Given the description of an element on the screen output the (x, y) to click on. 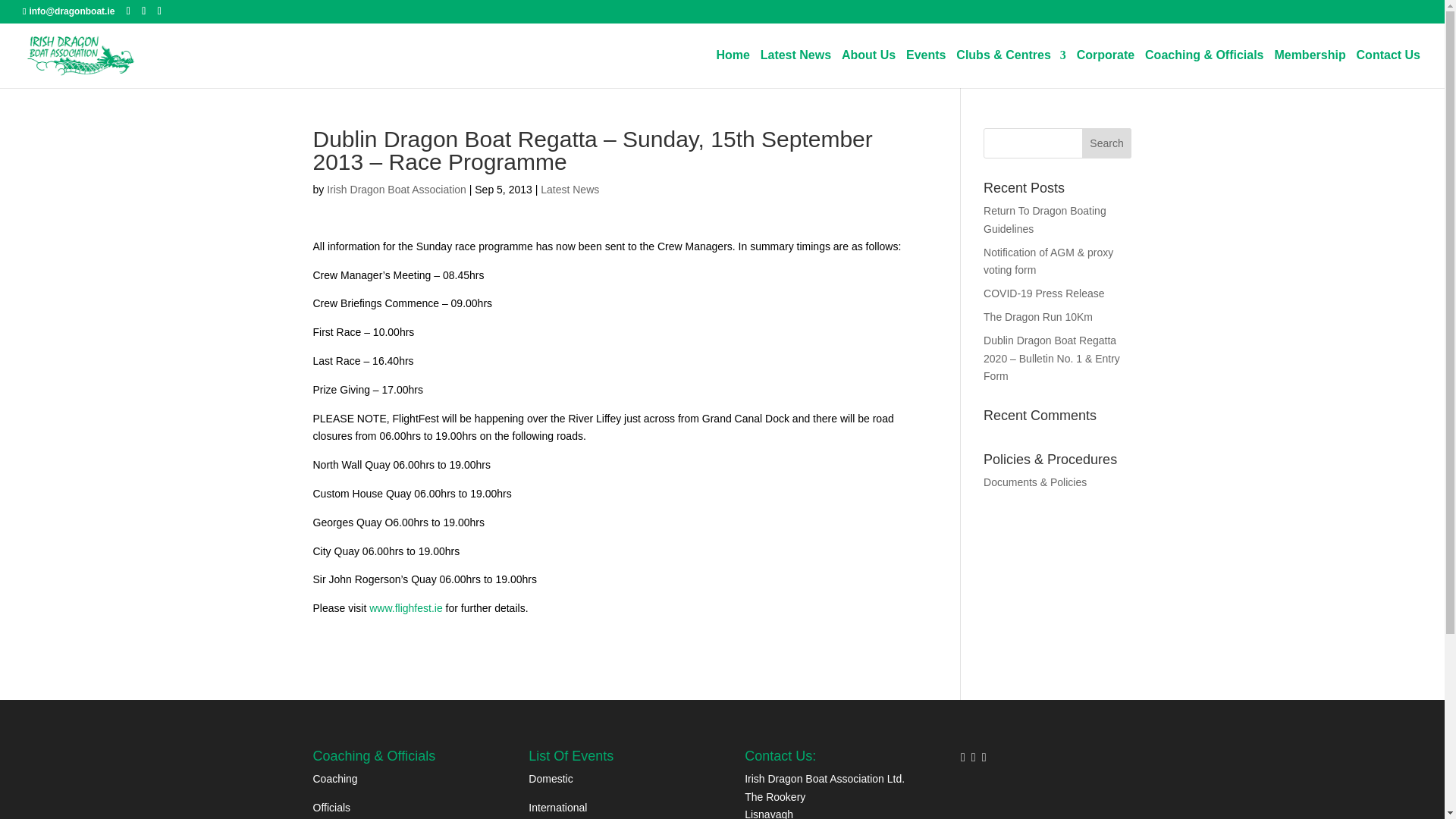
The Dragon Run 10Km (1038, 316)
International (557, 807)
Coaching (334, 778)
Domestic (550, 778)
Events (924, 68)
Corporate (1105, 68)
Return To Dragon Boating Guidelines (1045, 219)
Irish Dragon Boat Association (395, 189)
Search (1106, 142)
About Us (868, 68)
